Given the description of an element on the screen output the (x, y) to click on. 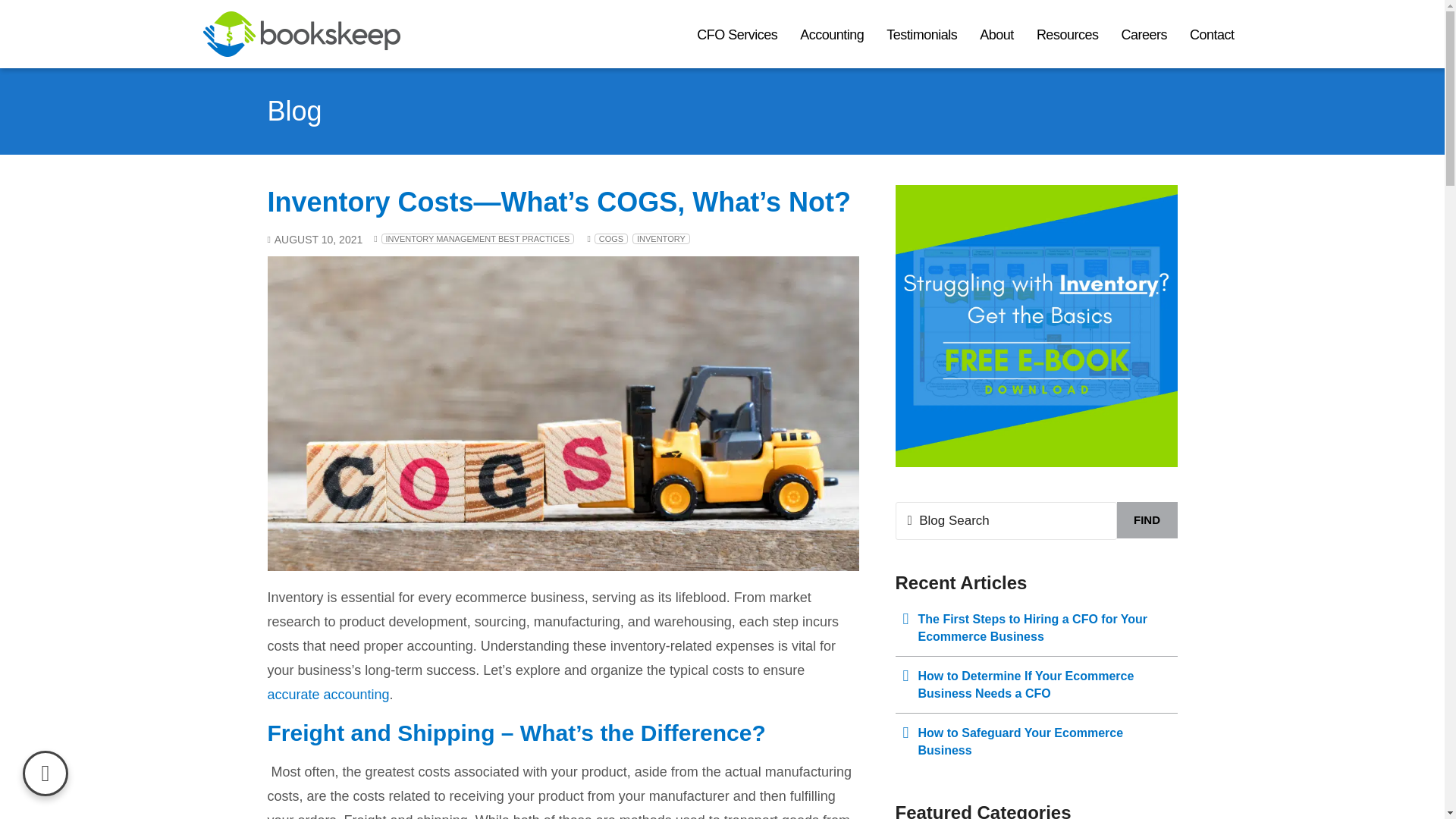
Careers (1143, 34)
INVENTORY MANAGEMENT BEST PRACTICES (478, 238)
CFO Services (737, 34)
Testimonials (921, 34)
Contact (1211, 34)
Accounting (832, 34)
FIND (1146, 520)
COGS (610, 238)
INVENTORY (660, 238)
How to Safeguard Your Ecommerce Business (1035, 741)
